Given the description of an element on the screen output the (x, y) to click on. 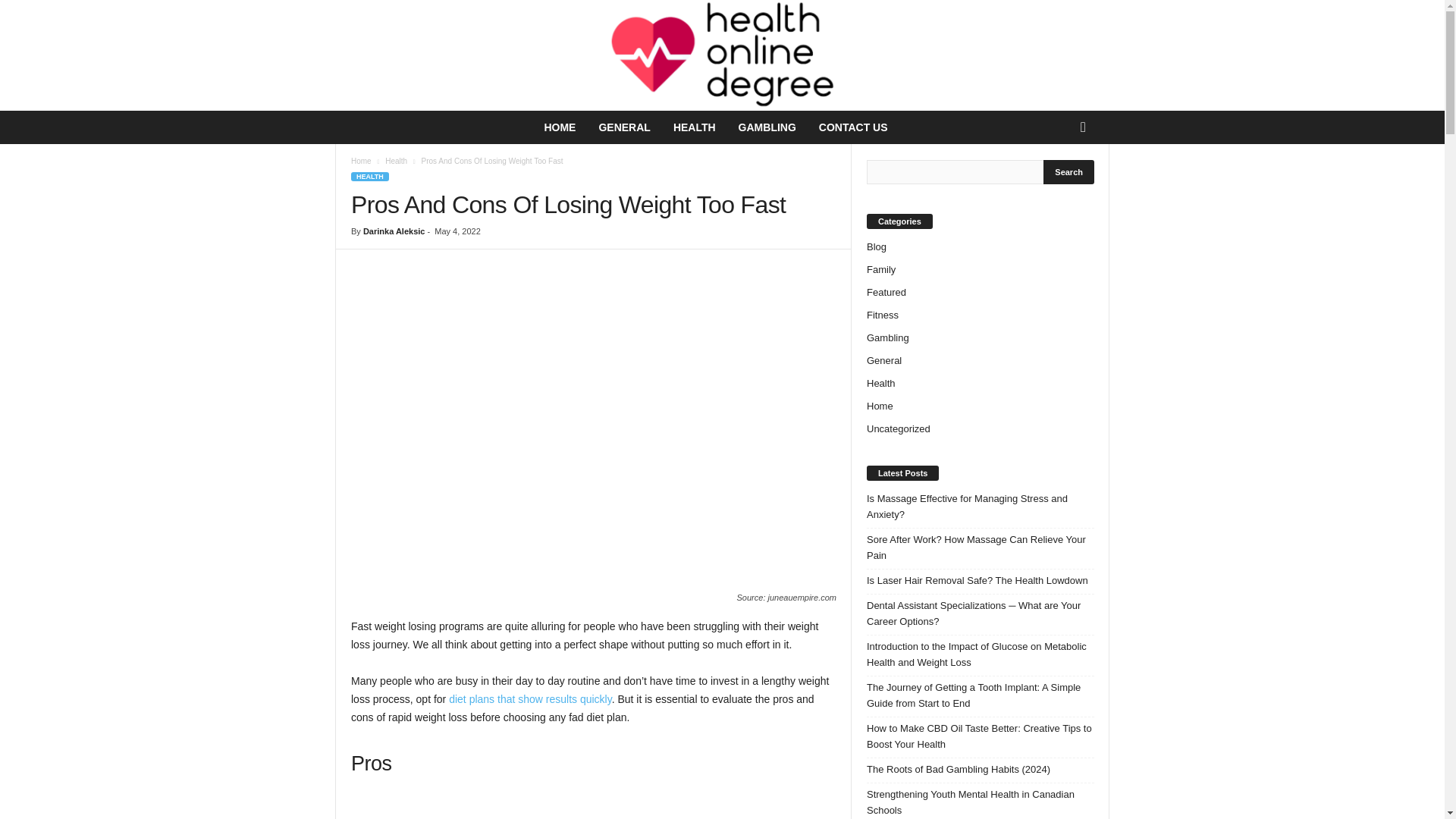
HEALTH (694, 127)
GENERAL (623, 127)
HEALTH (369, 175)
Health (396, 161)
Search (1068, 171)
GAMBLING (767, 127)
CONTACT US (853, 127)
Home (360, 161)
HOME (559, 127)
Darinka Aleksic (393, 230)
